Given the description of an element on the screen output the (x, y) to click on. 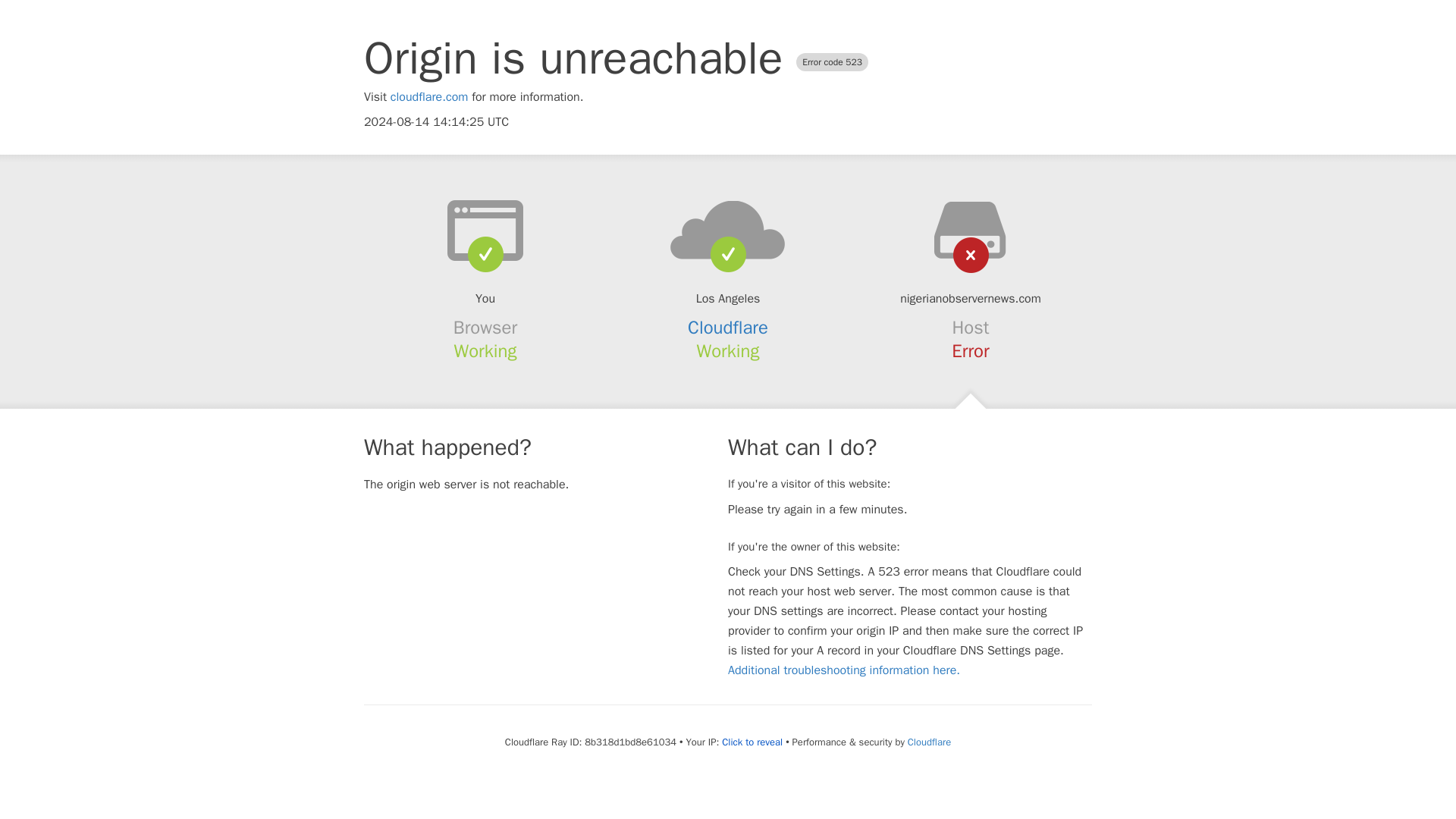
Additional troubleshooting information here. (843, 670)
Cloudflare (727, 327)
Click to reveal (752, 742)
Cloudflare (928, 741)
cloudflare.com (429, 96)
